Given the description of an element on the screen output the (x, y) to click on. 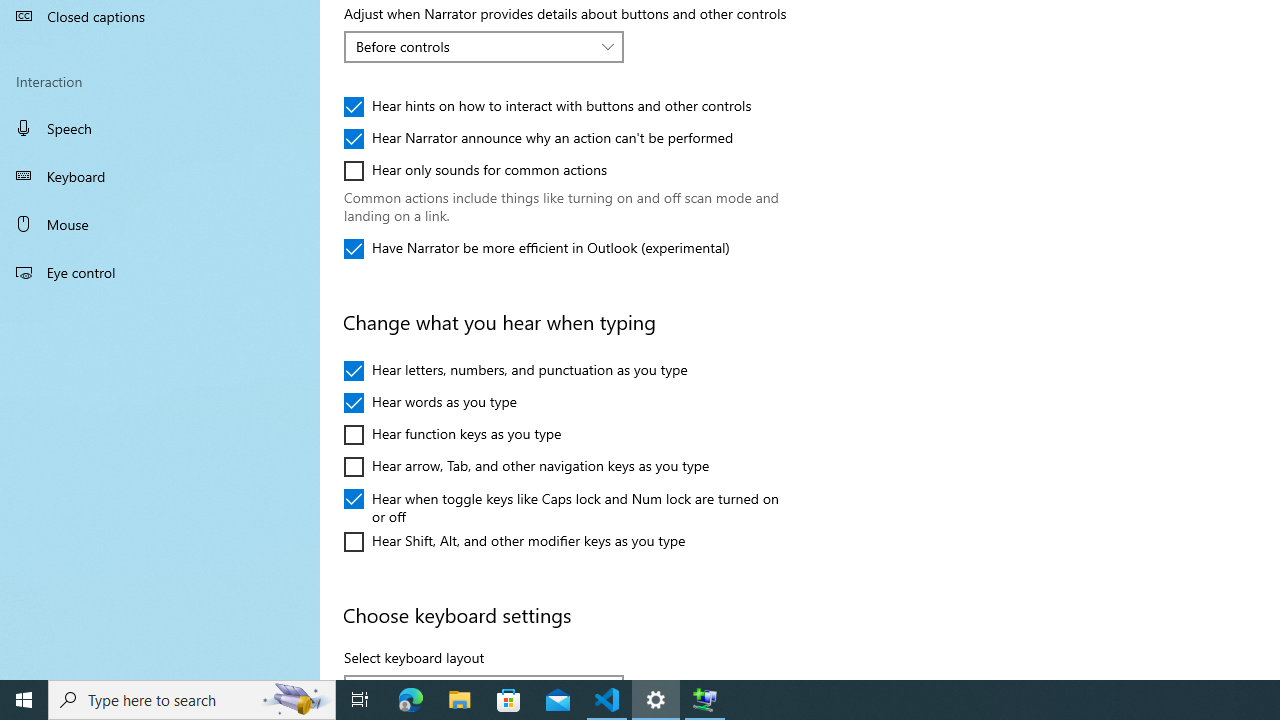
Start (24, 699)
Have Narrator be more efficient in Outlook (experimental) (536, 248)
Before controls (473, 46)
Extensible Wizards Host Process - 1 running window (704, 699)
Speech (160, 127)
Hear arrow, Tab, and other navigation keys as you type (527, 466)
Search highlights icon opens search home window (295, 699)
File Explorer (460, 699)
Type here to search (191, 699)
Hear function keys as you type (452, 434)
